Given the description of an element on the screen output the (x, y) to click on. 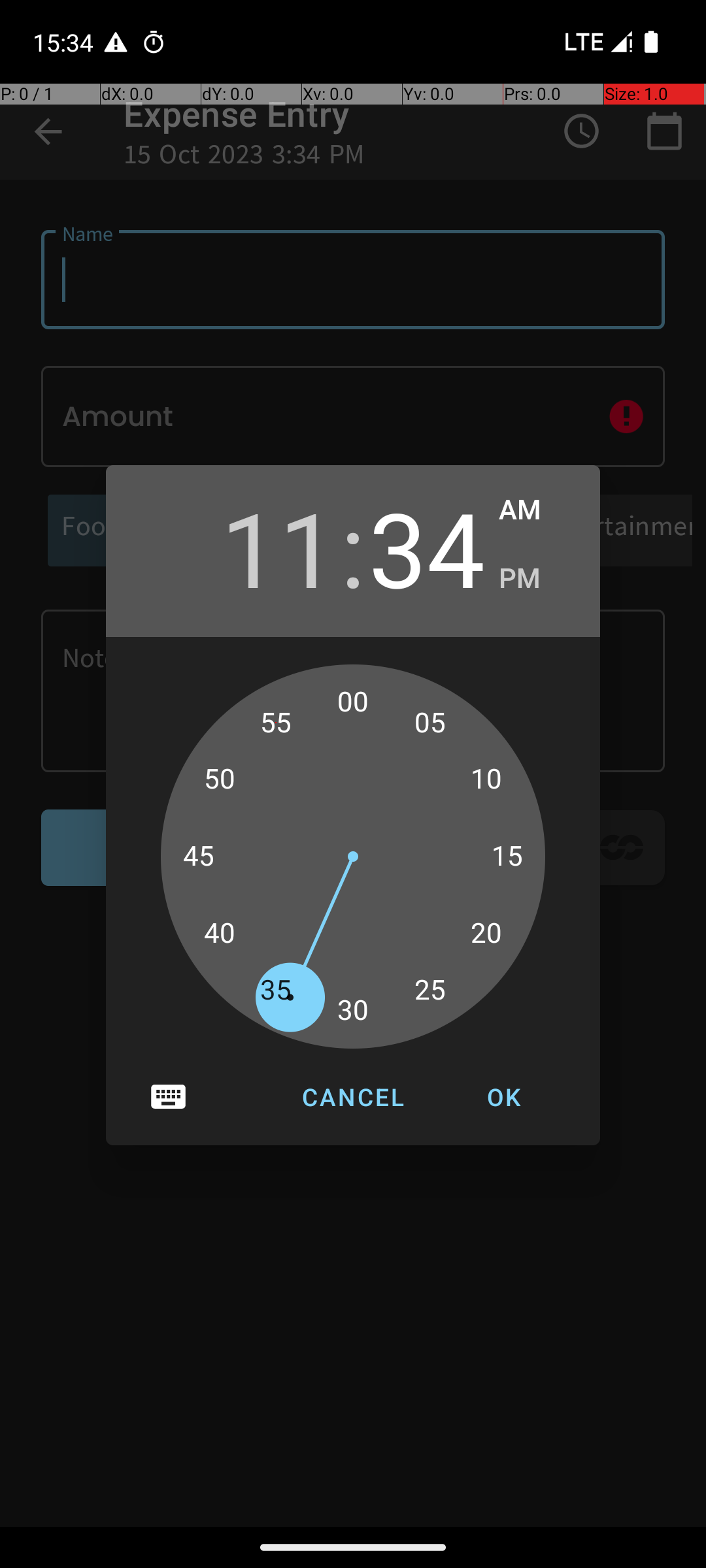
34 Element type: android.widget.TextView (426, 547)
